Given the description of an element on the screen output the (x, y) to click on. 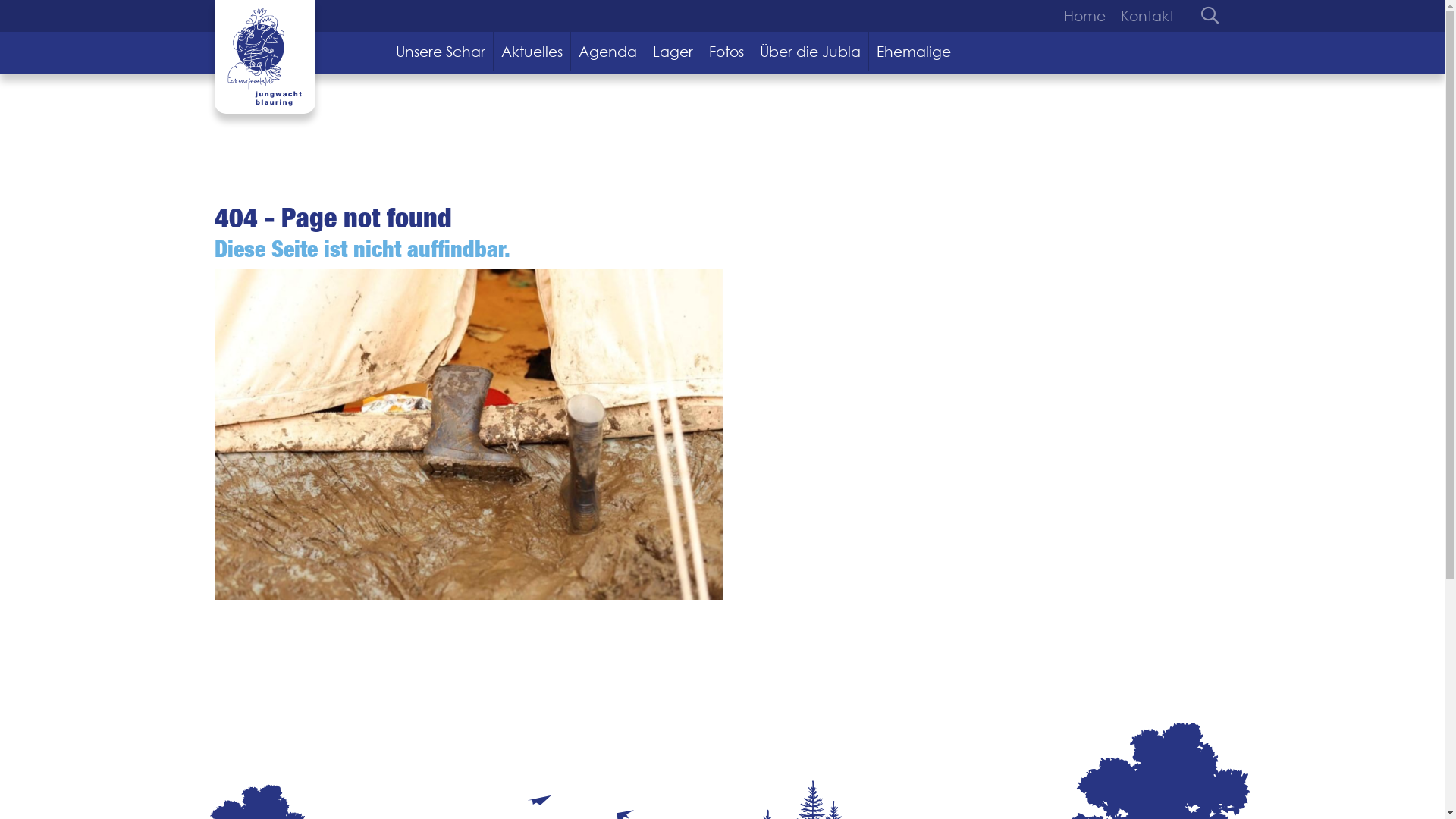
Ehemalige Element type: text (914, 51)
Kontakt Element type: text (1143, 15)
Unsere Schar Element type: text (440, 51)
Agenda Element type: text (608, 51)
404 - Page not found Element type: hover (467, 434)
Lager Element type: text (673, 51)
Home Element type: text (1087, 15)
Blauring Schwyz Element type: hover (264, 56)
Fotos Element type: text (726, 51)
Aktuelles Element type: text (532, 51)
